Given the description of an element on the screen output the (x, y) to click on. 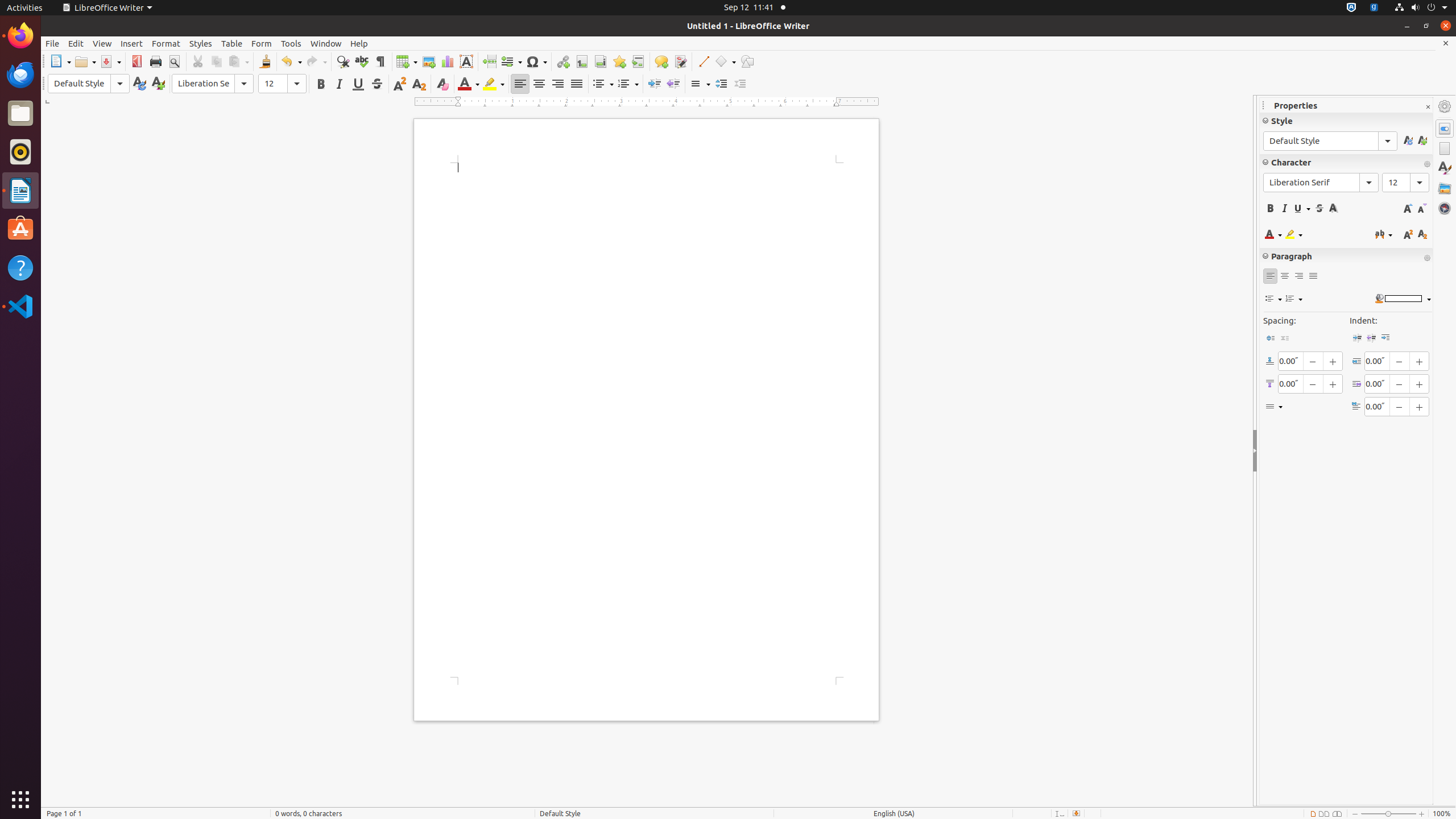
Table Element type: menu (231, 43)
Page Break Element type: push-button (489, 61)
Ubuntu Software Element type: push-button (20, 229)
Open Element type: push-button (84, 61)
Increase Element type: push-button (721, 83)
